Given the description of an element on the screen output the (x, y) to click on. 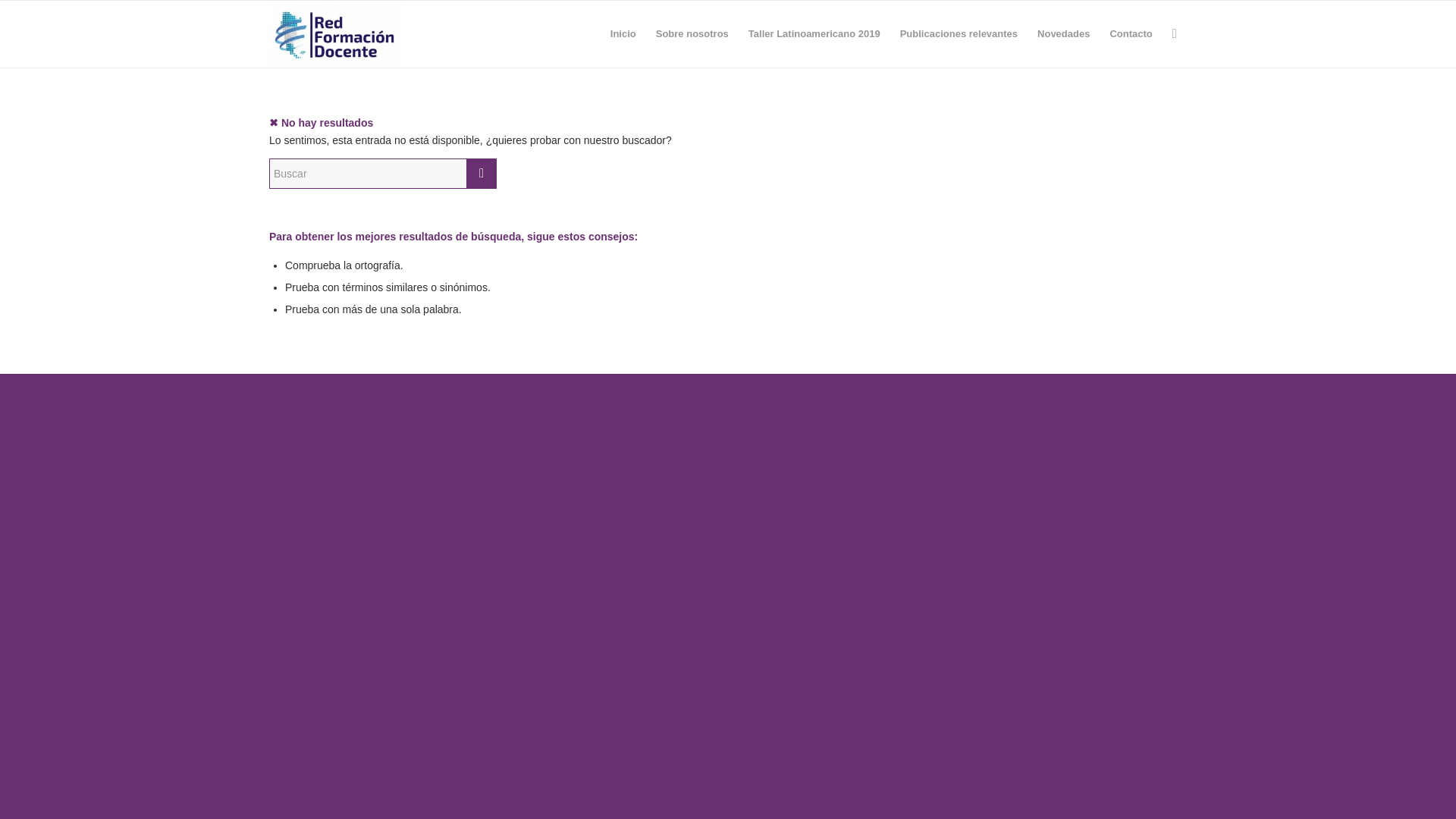
Publicaciones relevantes (958, 33)
Sobre nosotros (692, 33)
Contacto (1130, 33)
Novedades (1063, 33)
Taller Latinoamericano 2019 (813, 33)
